Given the description of an element on the screen output the (x, y) to click on. 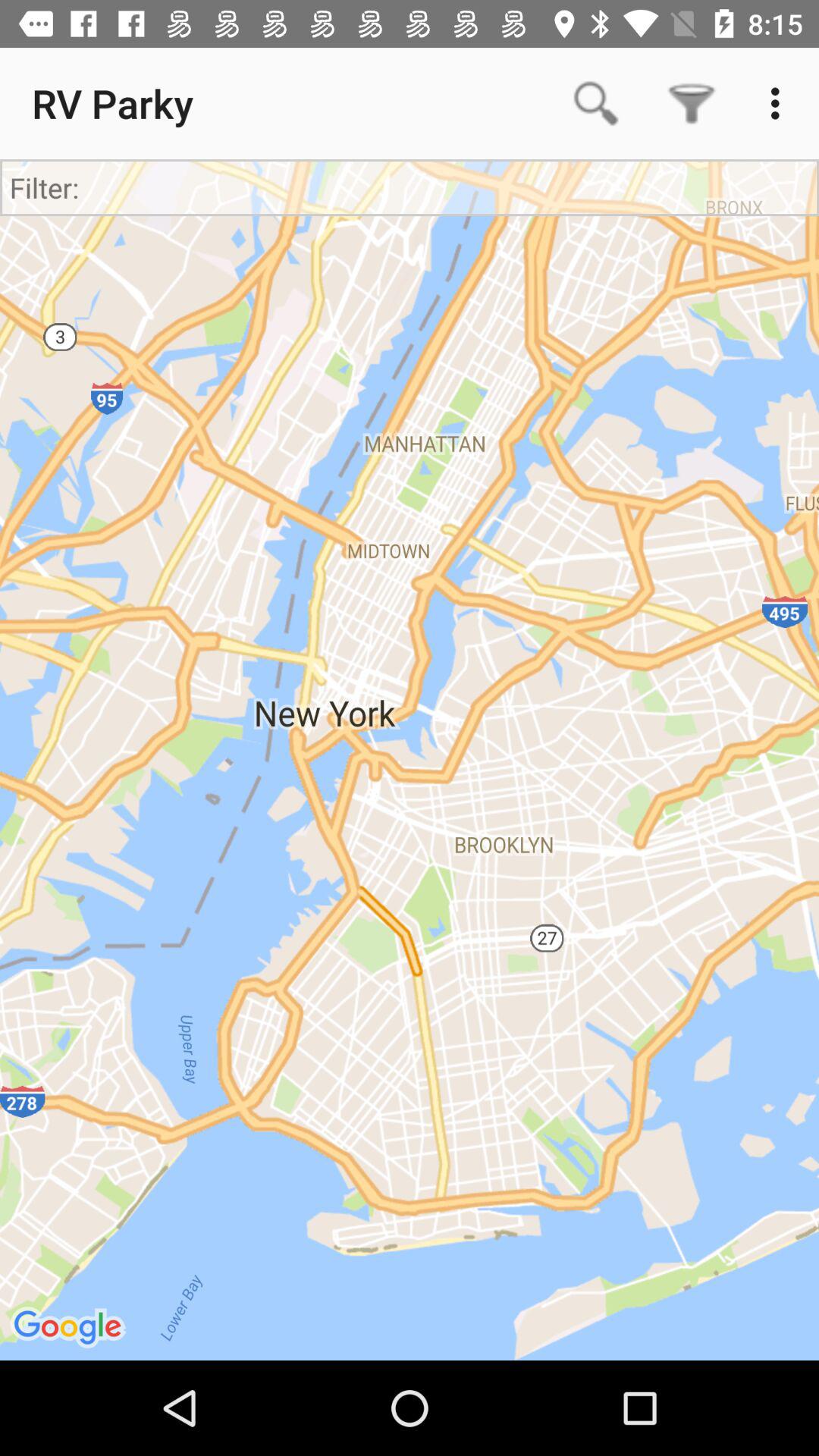
turn on app to the right of the rv parky (595, 103)
